Given the description of an element on the screen output the (x, y) to click on. 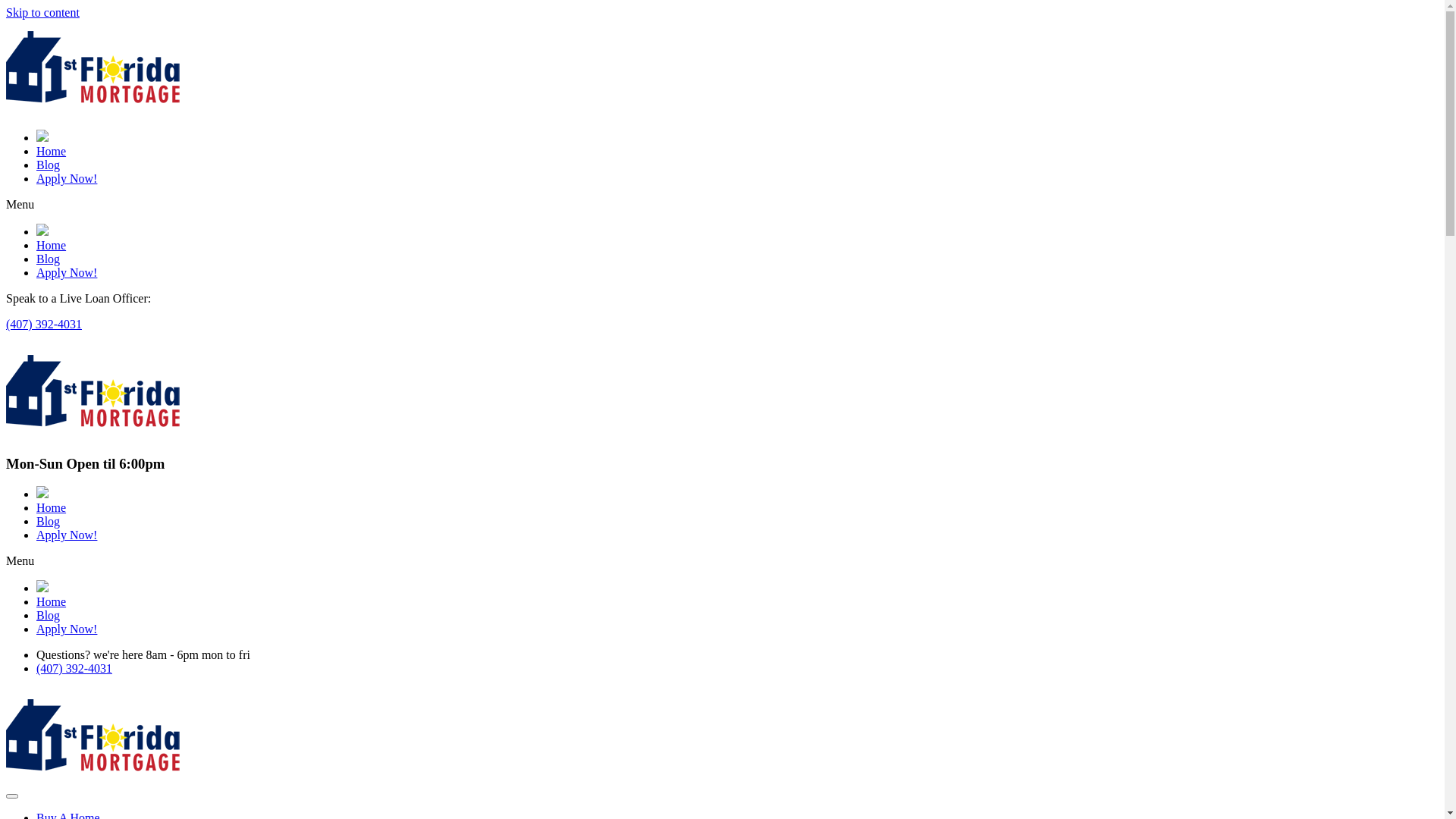
Blog Element type: text (47, 164)
Blog Element type: text (47, 614)
Home Element type: text (50, 150)
Apply Now! Element type: text (66, 628)
Apply Now! Element type: text (66, 178)
(407) 392-4031 Element type: text (74, 668)
(407) 392-4031 Element type: text (43, 323)
Apply Now! Element type: text (66, 272)
Home Element type: text (50, 244)
Blog Element type: text (47, 258)
Skip to content Element type: text (42, 12)
Home Element type: text (50, 507)
Blog Element type: text (47, 520)
Apply Now! Element type: text (66, 534)
Home Element type: text (50, 601)
